Given the description of an element on the screen output the (x, y) to click on. 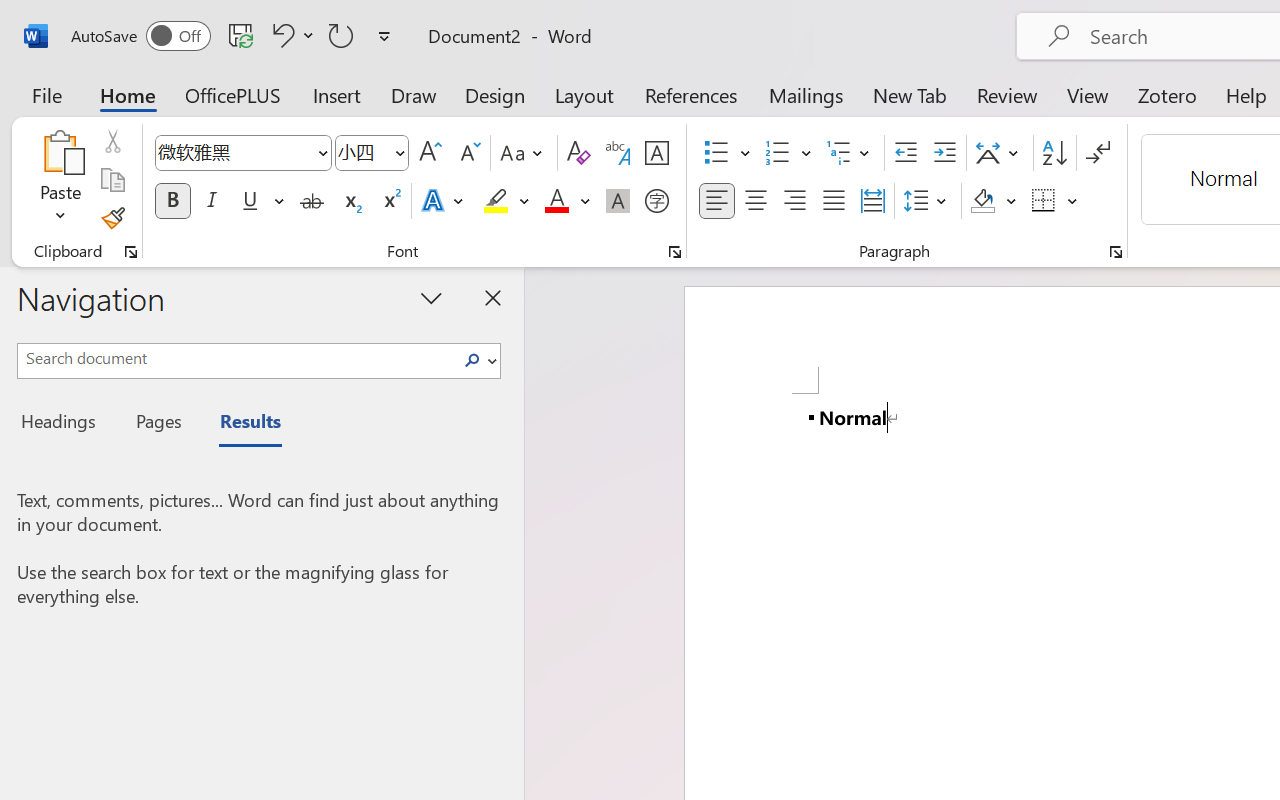
Undo <ApplyStyleToDoc>b__0 (290, 35)
Font Size (372, 153)
Show/Hide Editing Marks (1098, 153)
Layout (584, 94)
Justify (834, 201)
New Tab (909, 94)
Change Case (524, 153)
Design (495, 94)
Text Highlight Color (506, 201)
Zotero (1166, 94)
Enclose Characters... (656, 201)
Review (1007, 94)
Search (471, 360)
Shading RGB(0, 0, 0) (982, 201)
OfficePLUS (233, 94)
